Given the description of an element on the screen output the (x, y) to click on. 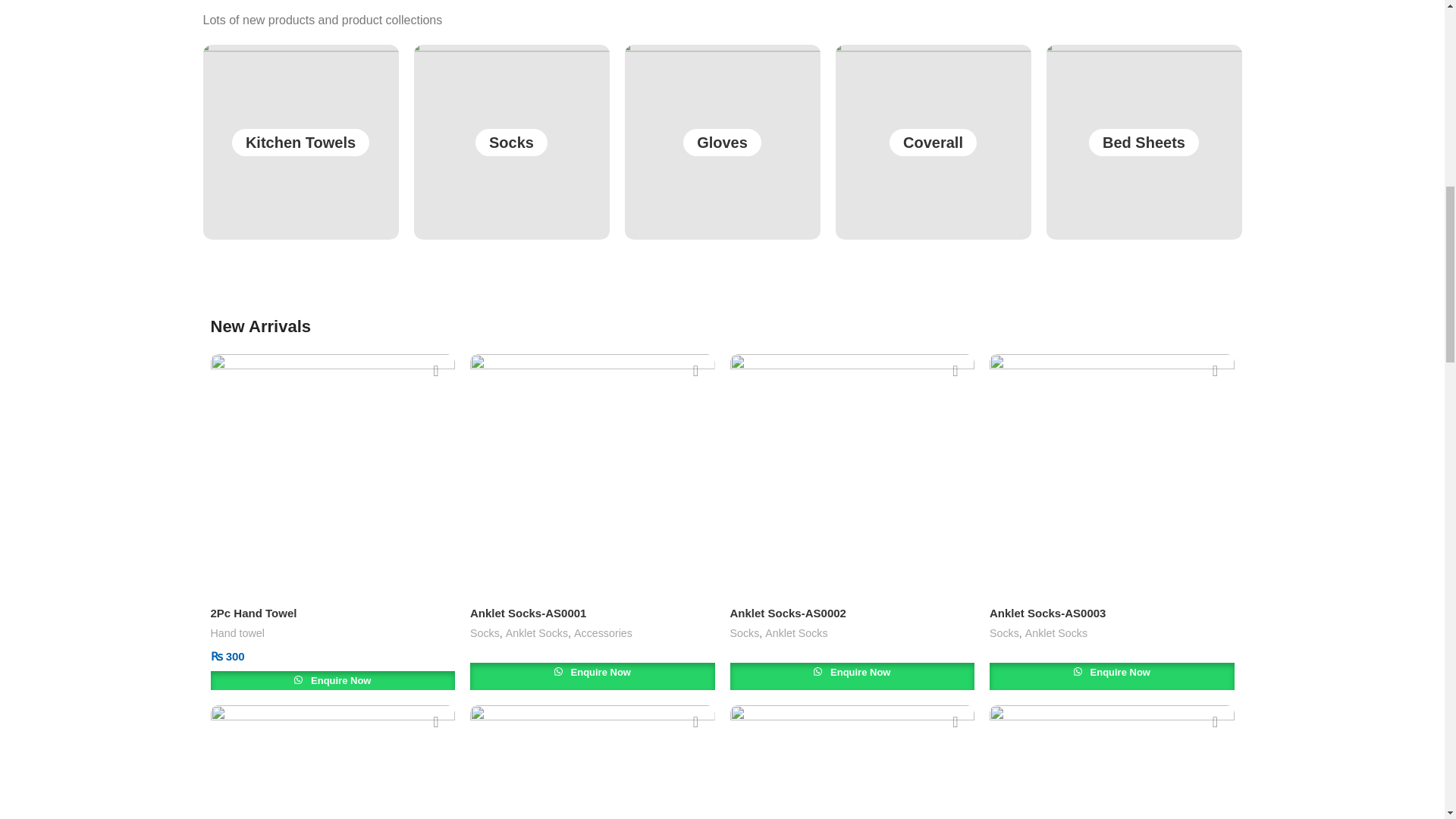
Complete order on WhatsApp to buy Anklet Socks-AS0003 (1112, 676)
Complete order on WhatsApp to buy Anklet Socks-AS0002 (851, 676)
Complete order on WhatsApp to buy Anklet Socks-AS0001 (592, 676)
Complete order on WhatsApp to buy 2Pc Hand Towel (333, 684)
